Given the description of an element on the screen output the (x, y) to click on. 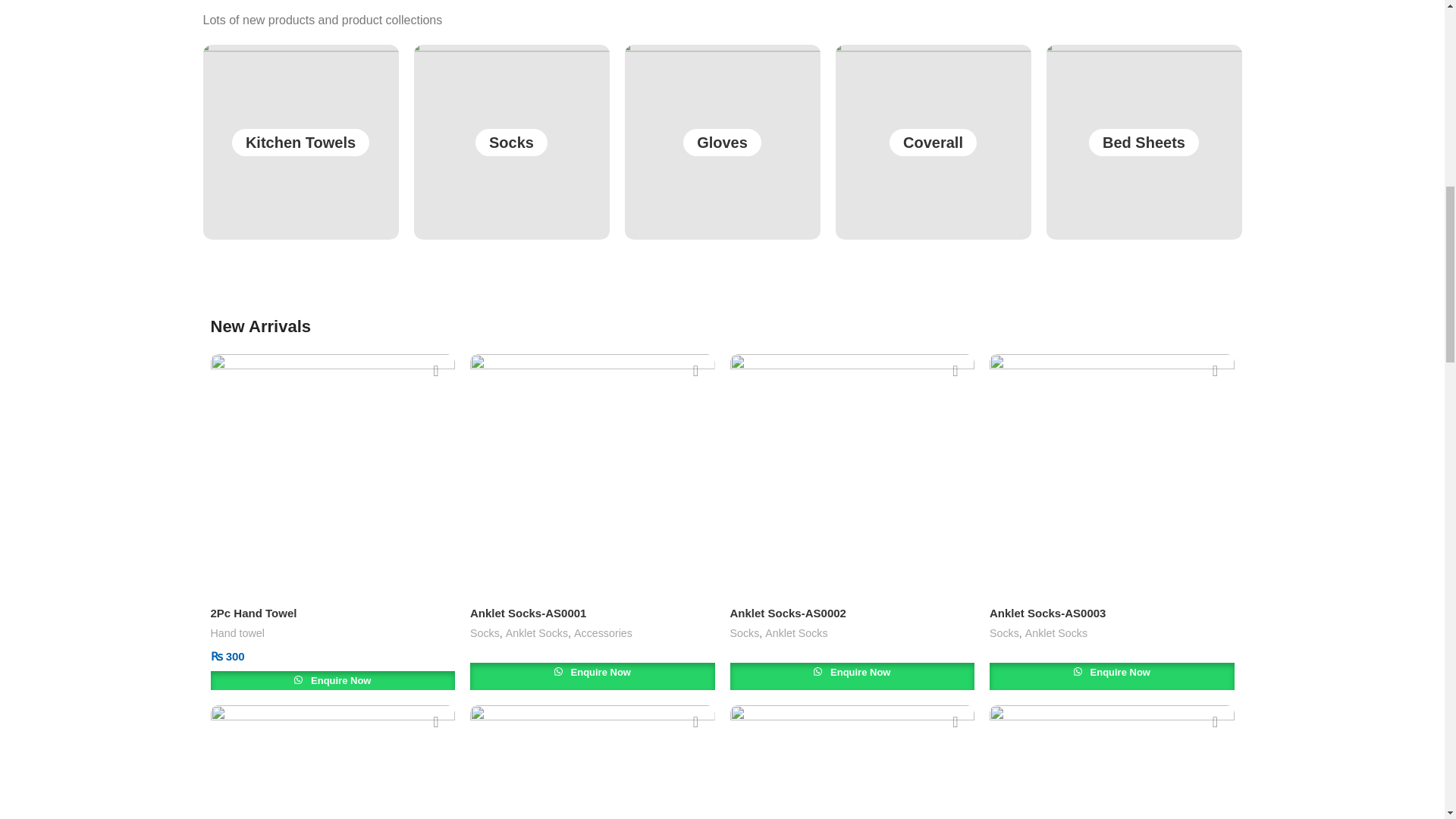
Complete order on WhatsApp to buy Anklet Socks-AS0003 (1112, 676)
Complete order on WhatsApp to buy Anklet Socks-AS0002 (851, 676)
Complete order on WhatsApp to buy Anklet Socks-AS0001 (592, 676)
Complete order on WhatsApp to buy 2Pc Hand Towel (333, 684)
